Given the description of an element on the screen output the (x, y) to click on. 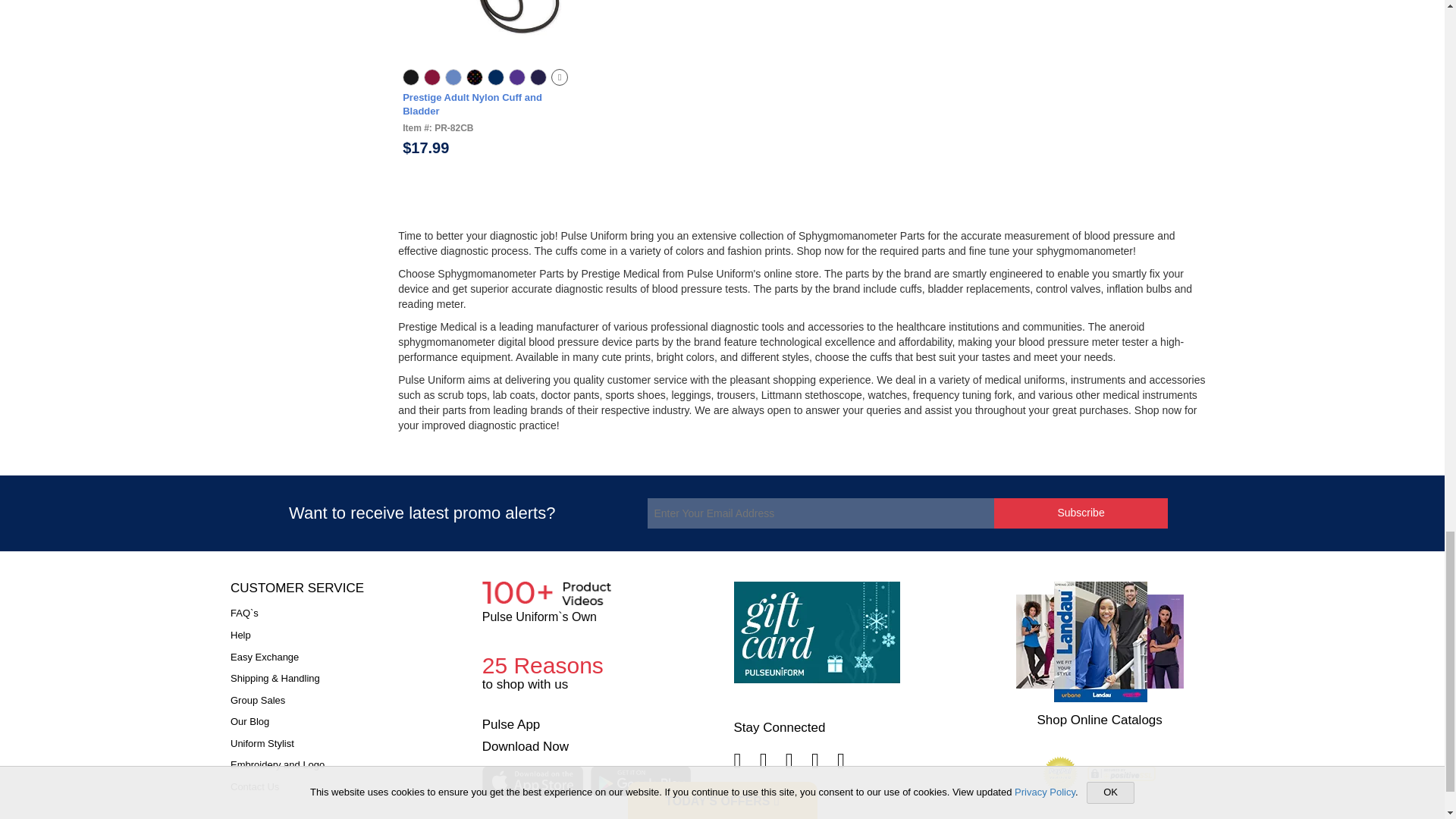
Subscribe (1080, 512)
